Given the description of an element on the screen output the (x, y) to click on. 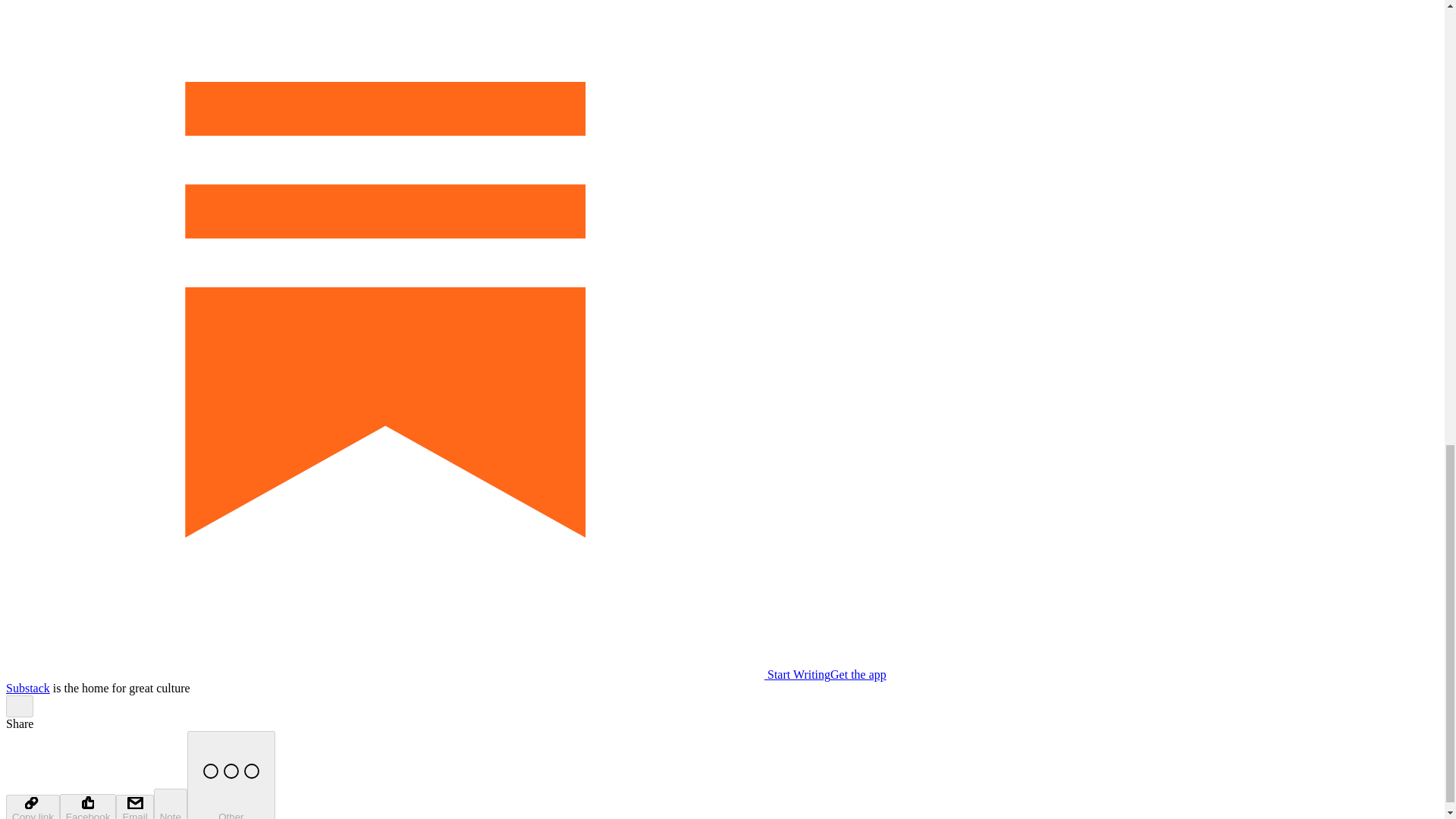
Start Writing (417, 674)
Get the app (857, 674)
Substack (27, 687)
